Given the description of an element on the screen output the (x, y) to click on. 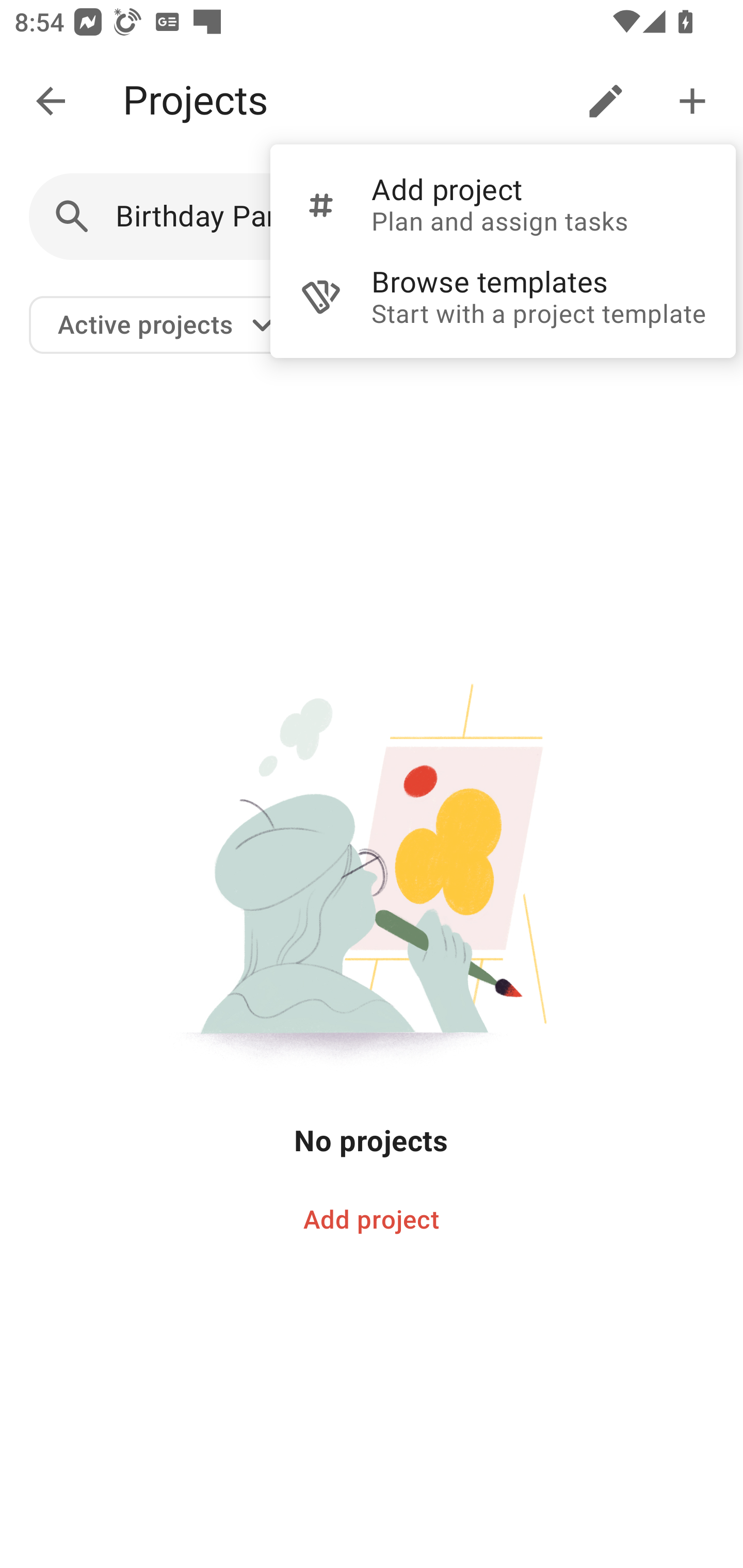
Add project Plan and assign tasks (502, 204)
Browse templates Start with a project template (502, 296)
